Given the description of an element on the screen output the (x, y) to click on. 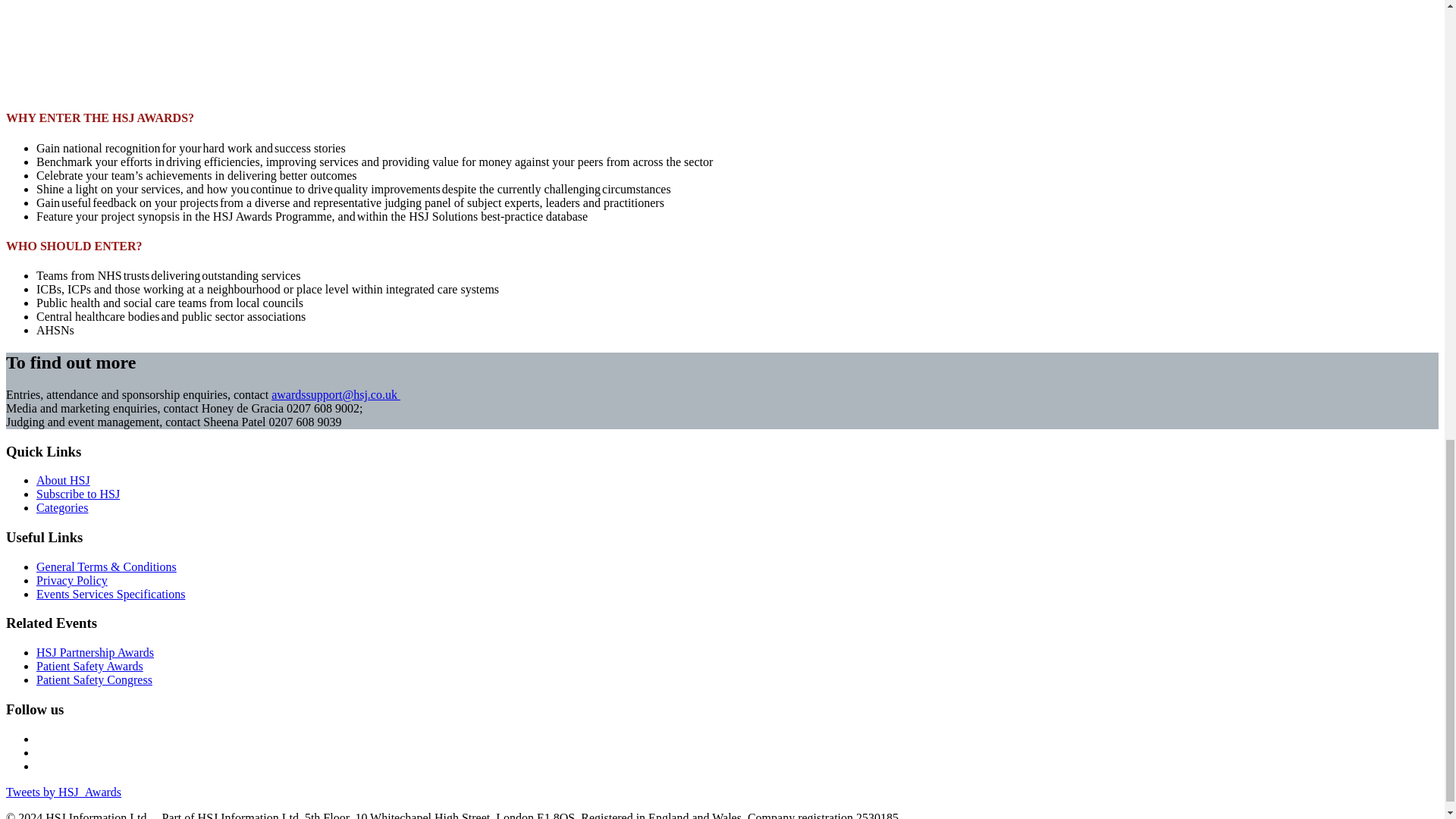
Events Services Specifications (110, 594)
Patient Safety Awards (89, 666)
YouTube video player (217, 46)
About HSJ (63, 480)
HSJ Partnership Awards (95, 652)
Patient Safety Congress (94, 679)
Privacy Policy (71, 580)
Subscribe to HSJ (77, 493)
Categories (61, 507)
